Given the description of an element on the screen output the (x, y) to click on. 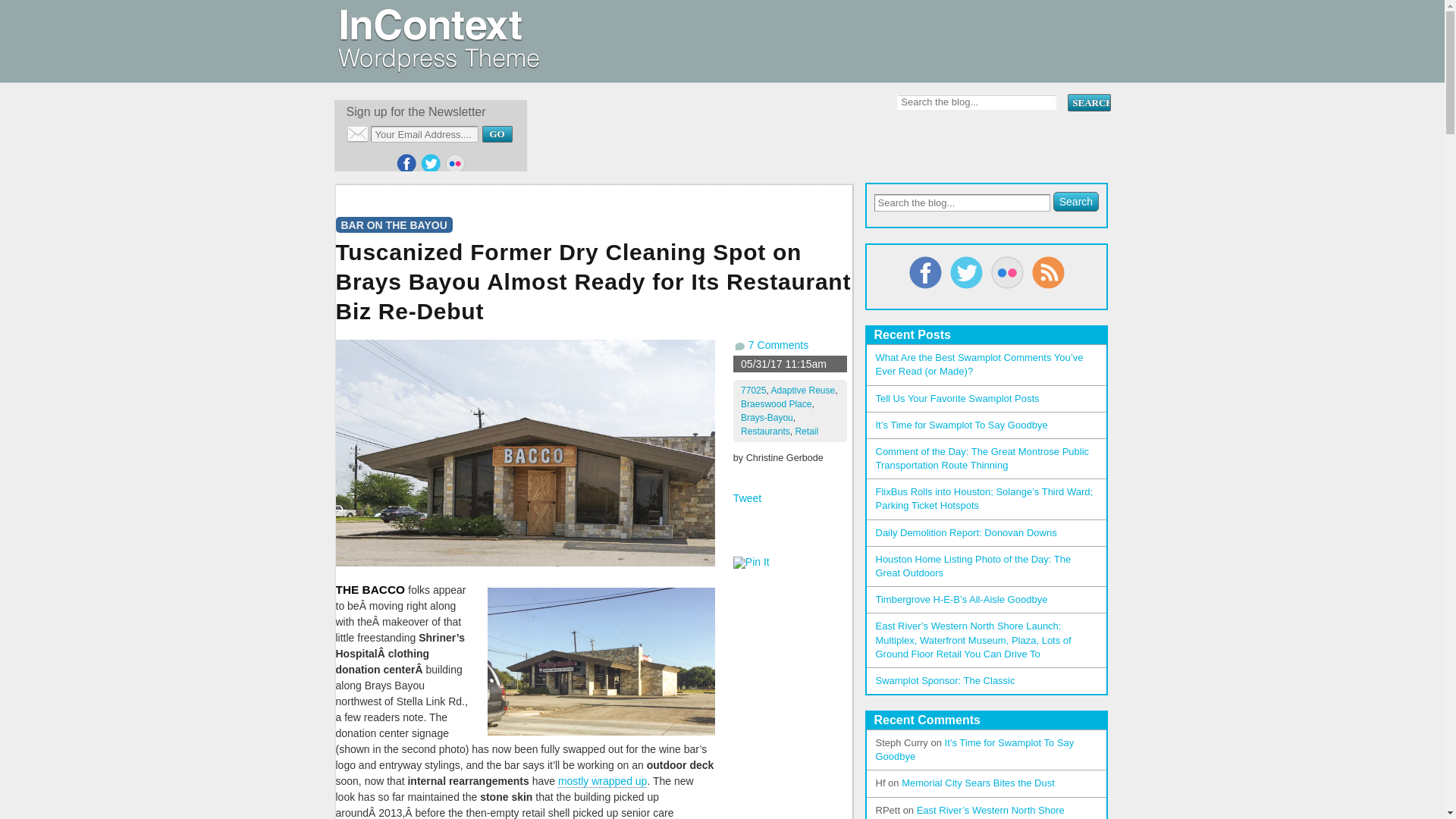
Retail (806, 430)
mostly wrapped up (602, 780)
Like us on Facebook (406, 163)
Swamplot (437, 67)
GO (496, 134)
Brays-Bayou (767, 417)
Adaptive Reuse (802, 389)
Follow us on Twitter (430, 163)
Tweet (747, 498)
